Given the description of an element on the screen output the (x, y) to click on. 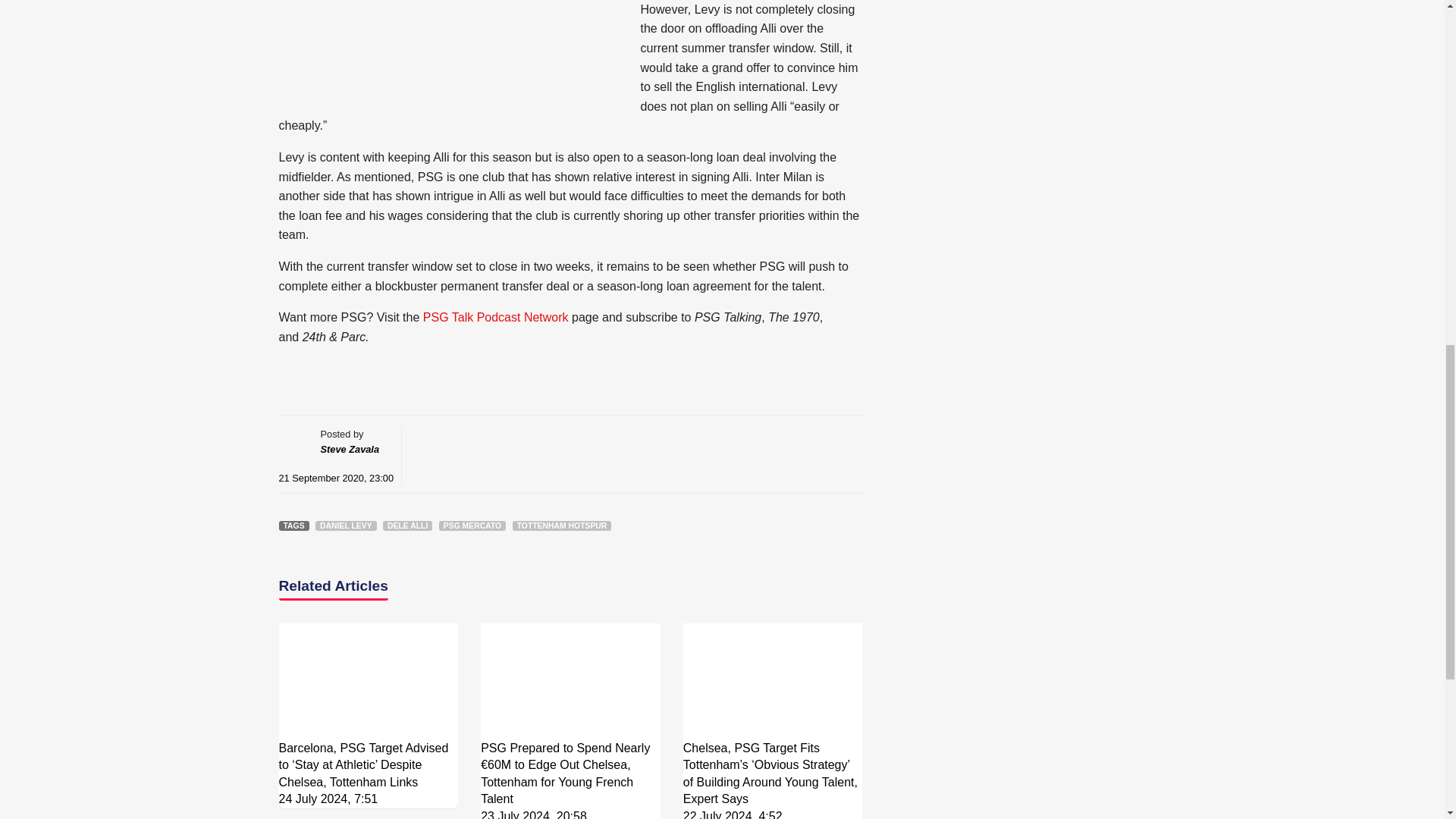
PSG Talk Podcast Network (496, 317)
